Given the description of an element on the screen output the (x, y) to click on. 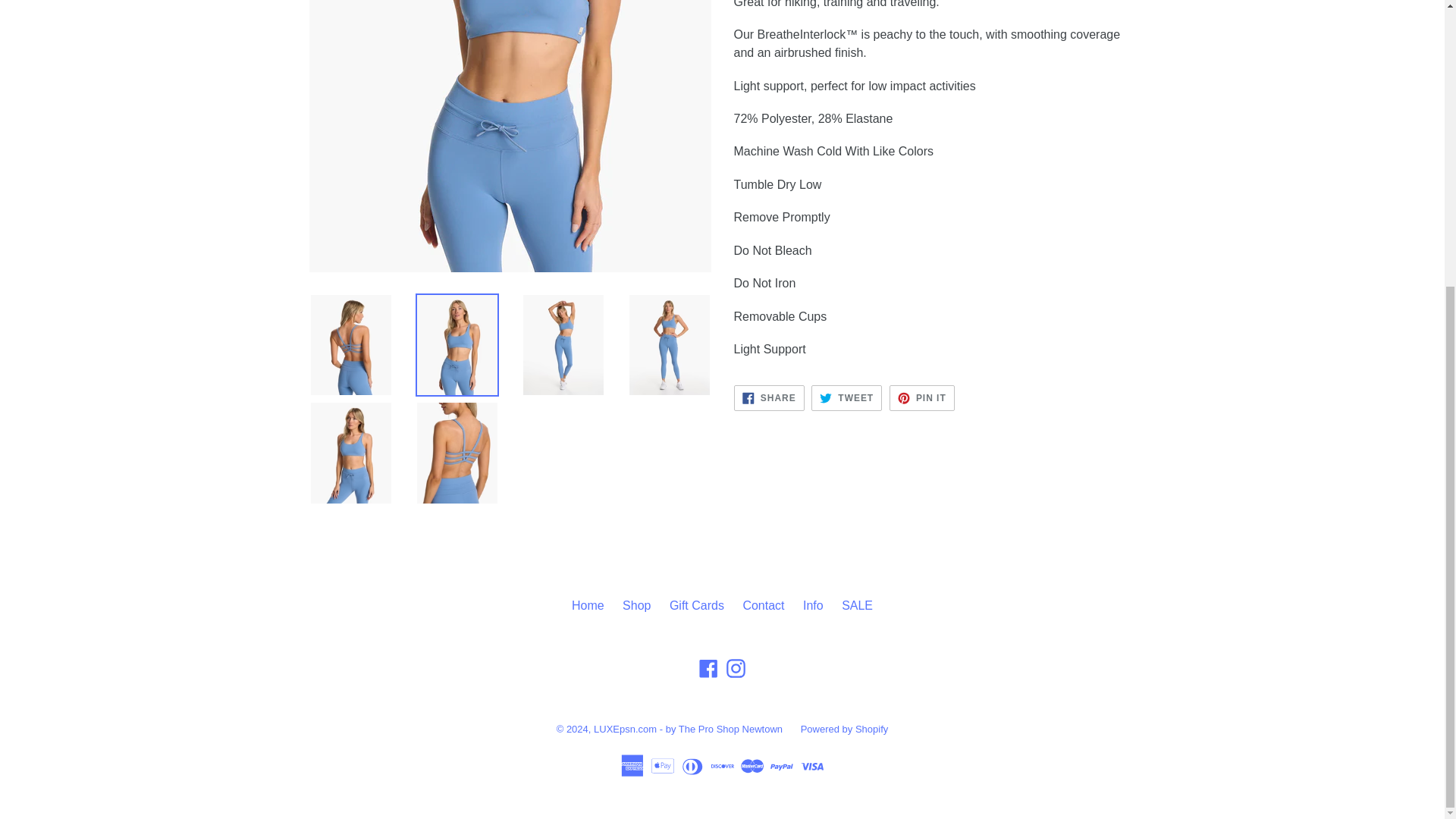
Pin on Pinterest (922, 397)
LUXEpsn.com - by The Pro Shop Newtown   on Facebook (708, 668)
Tweet on Twitter (846, 397)
LUXEpsn.com - by The Pro Shop Newtown   on Instagram (735, 668)
Share on Facebook (769, 397)
